Given the description of an element on the screen output the (x, y) to click on. 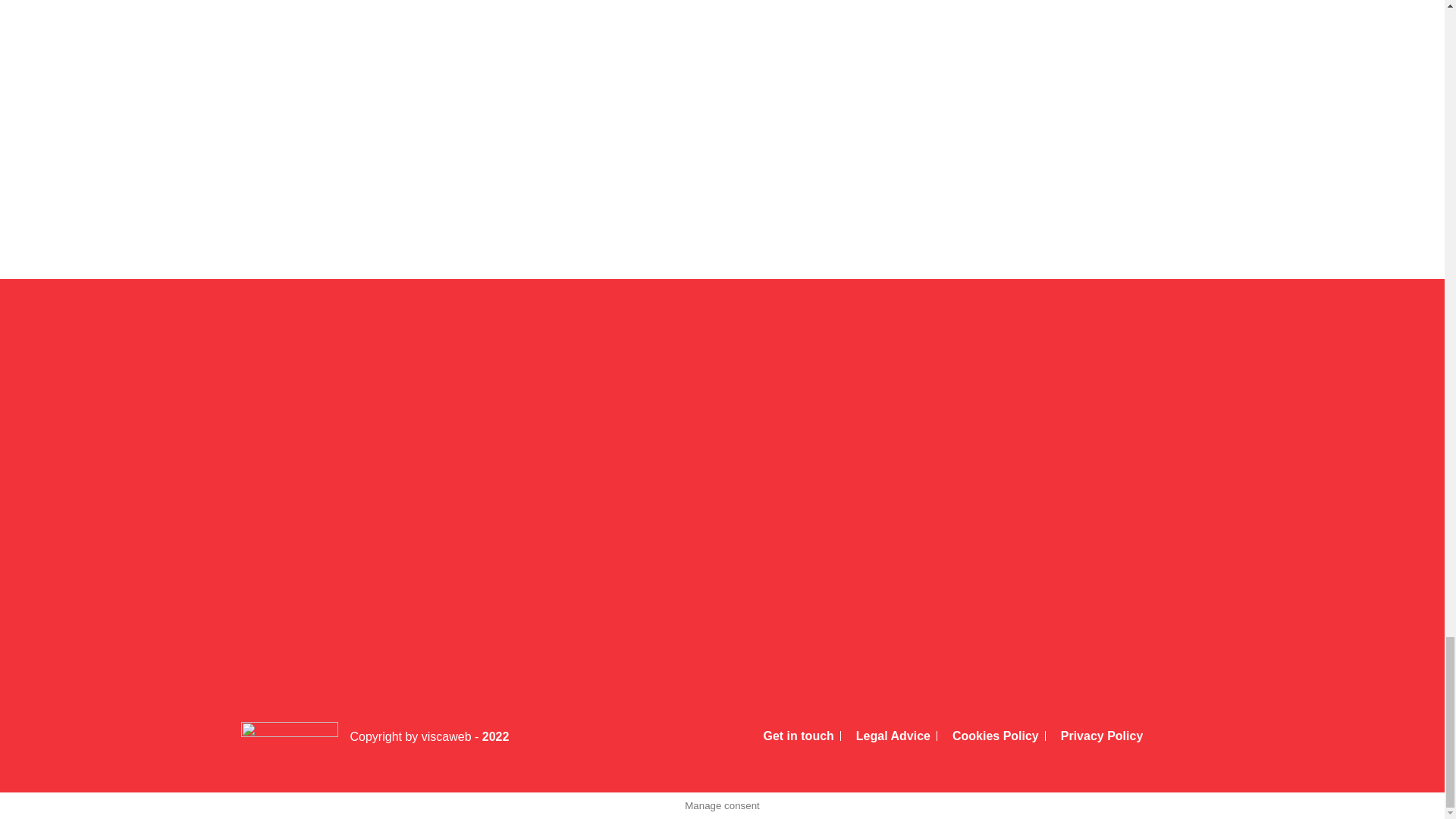
Cookies Policy (991, 735)
Privacy Policy (1096, 735)
Legal Advice (888, 735)
Get in touch (793, 735)
